Given the description of an element on the screen output the (x, y) to click on. 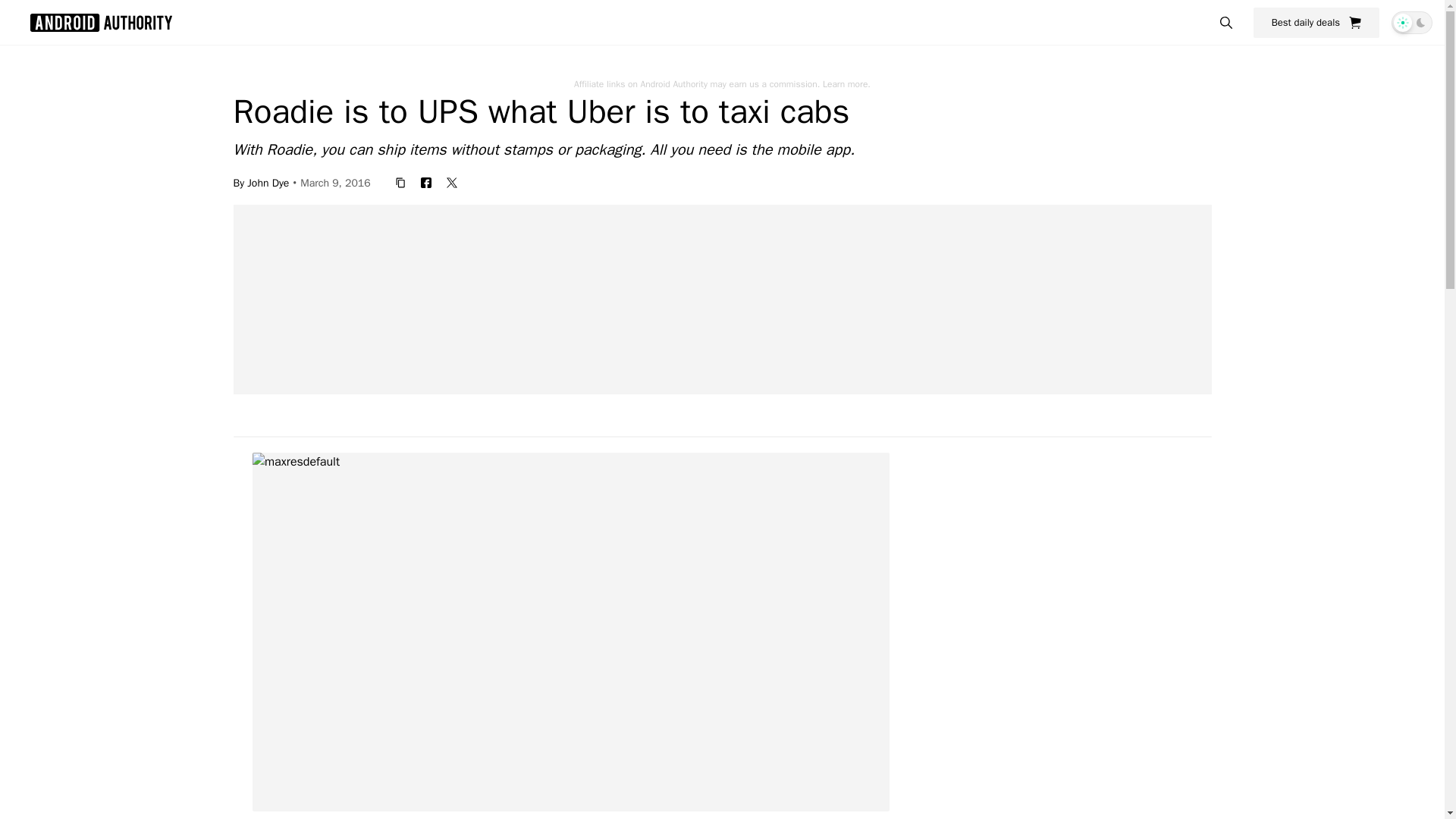
twitter (451, 182)
facebook (426, 182)
Best daily deals (1315, 22)
John Dye (267, 182)
Learn more. (846, 83)
